Given the description of an element on the screen output the (x, y) to click on. 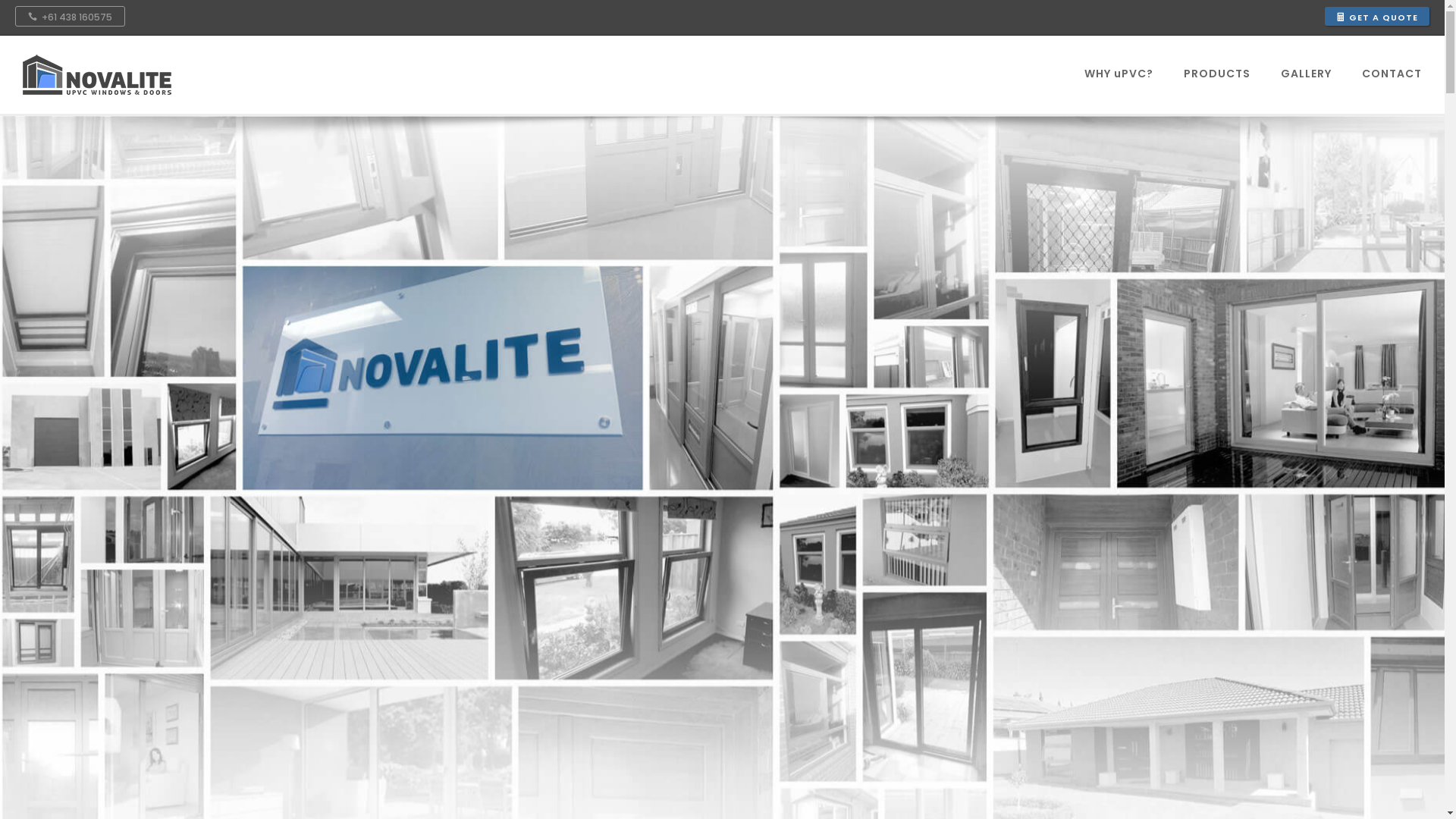
CONTACT Element type: text (1383, 73)
GET A QUOTE Element type: text (1376, 15)
WHY uPVC? Element type: text (1118, 73)
GALLERY Element type: text (1305, 73)
PRODUCTS Element type: text (1216, 73)
